Given the description of an element on the screen output the (x, y) to click on. 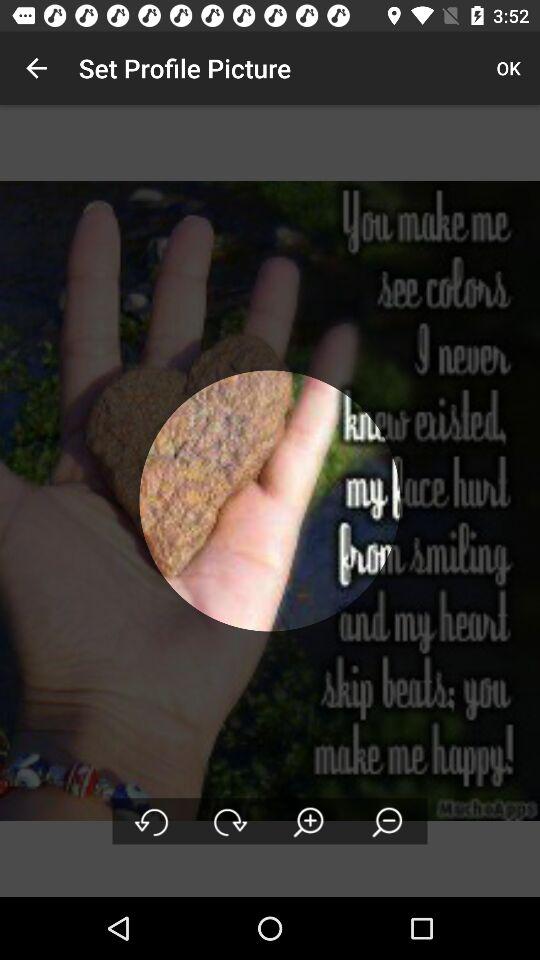
turn off ok item (508, 67)
